Given the description of an element on the screen output the (x, y) to click on. 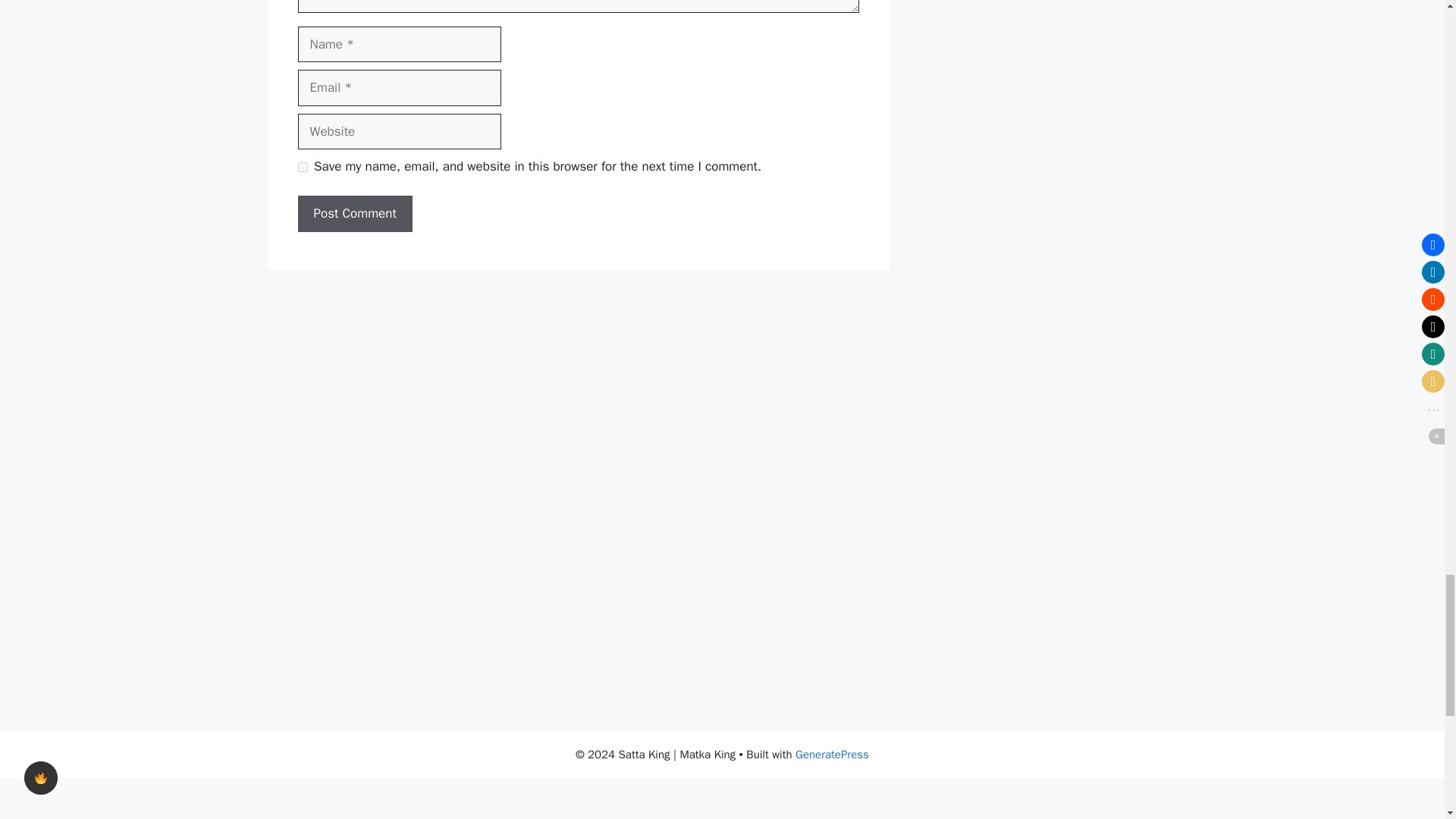
Post Comment (354, 213)
Post Comment (354, 213)
GeneratePress (831, 754)
yes (302, 166)
